Given the description of an element on the screen output the (x, y) to click on. 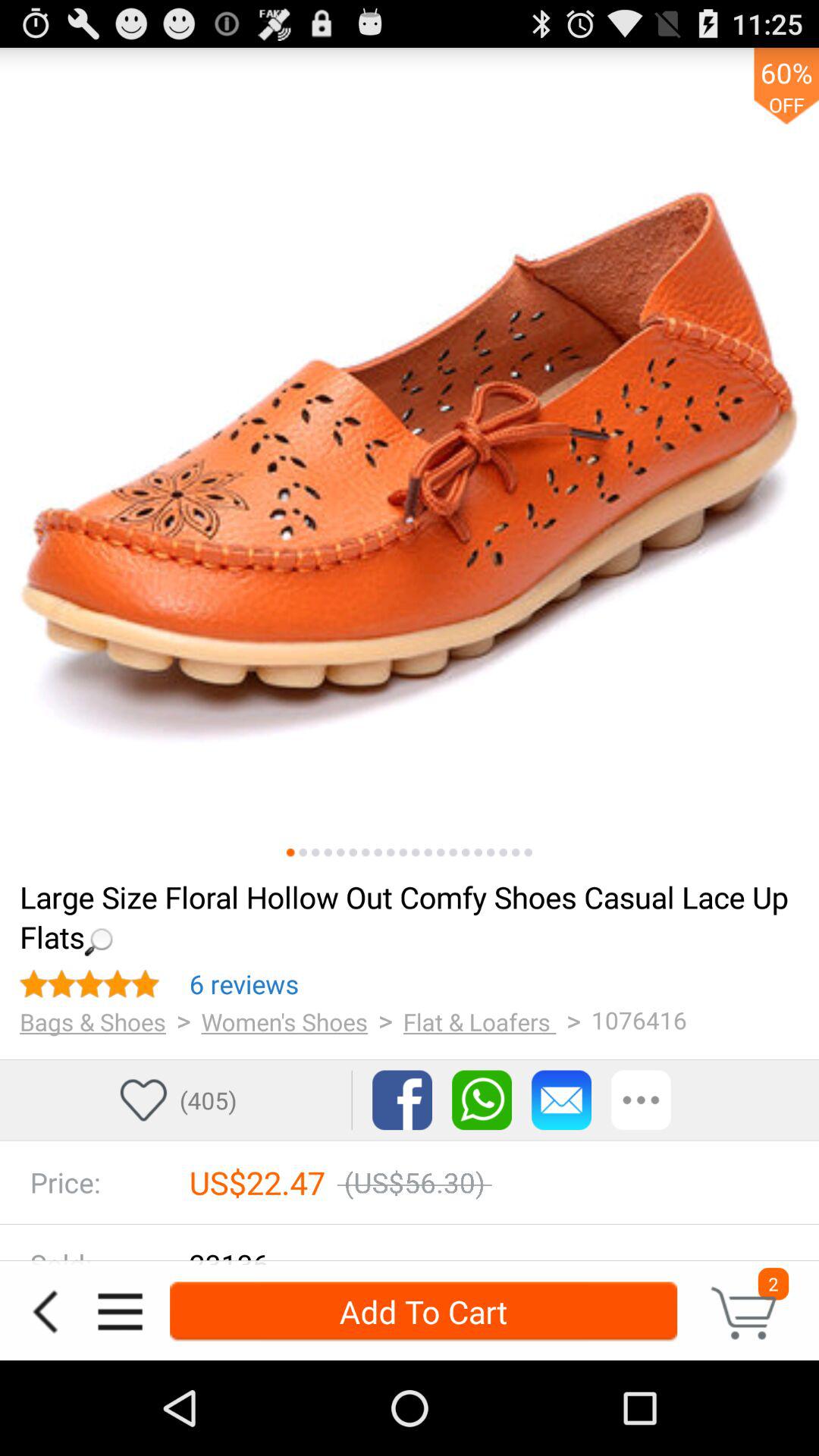
choose icon to the left of add to cart app (120, 1311)
